Given the description of an element on the screen output the (x, y) to click on. 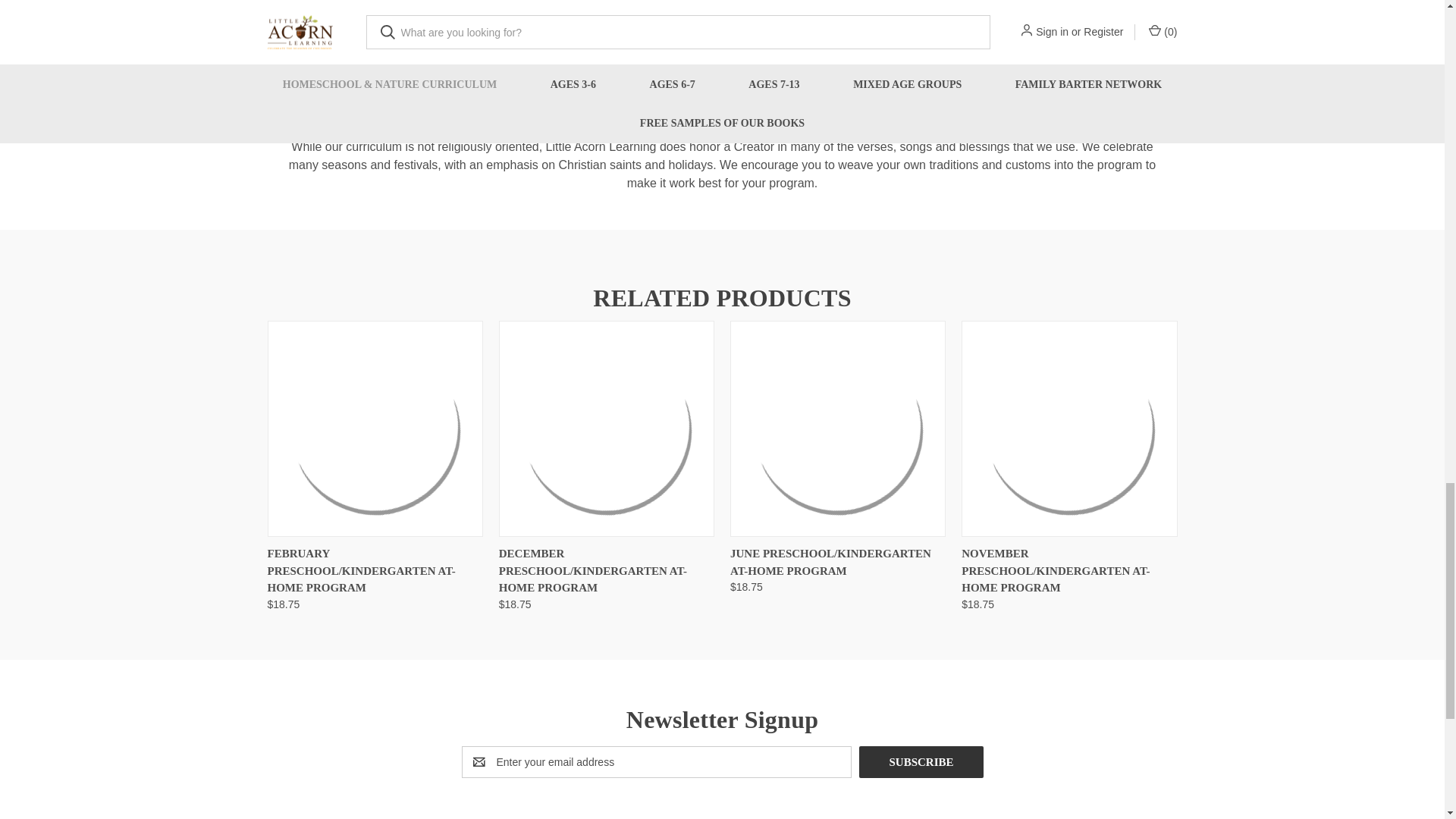
Subscribe (920, 762)
